Given the description of an element on the screen output the (x, y) to click on. 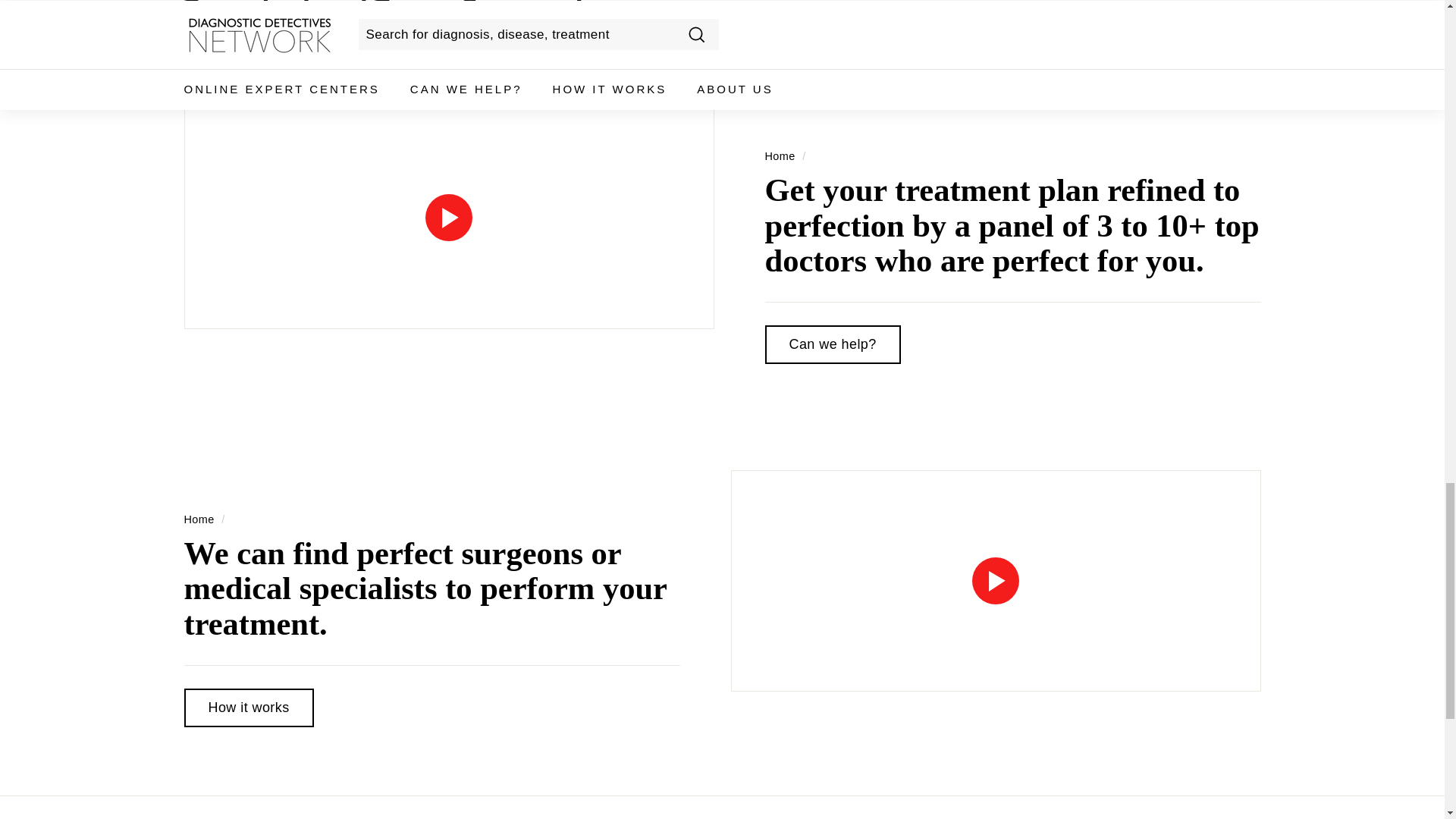
Back to the frontpage (198, 519)
Back to the frontpage (779, 155)
